Given the description of an element on the screen output the (x, y) to click on. 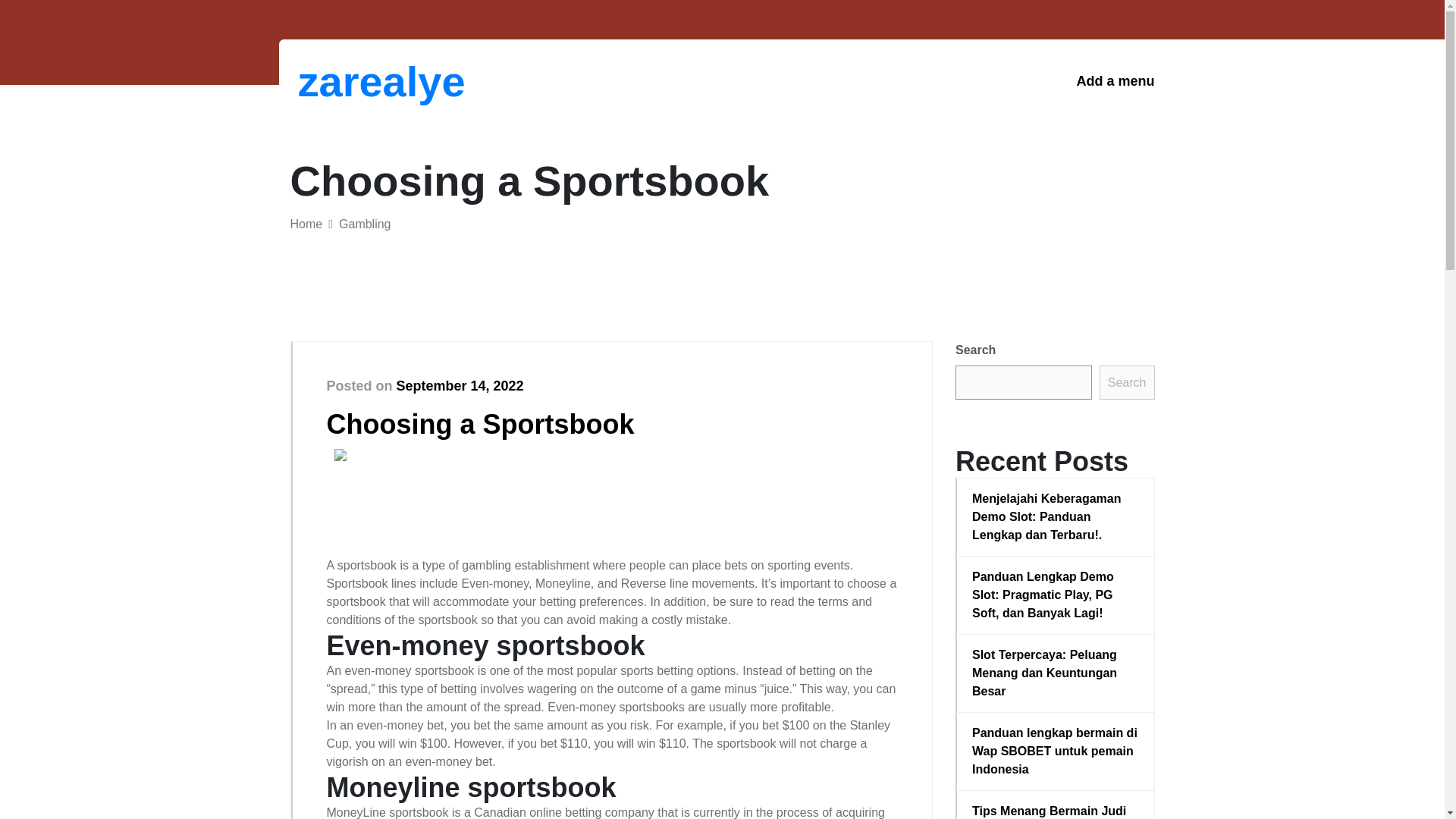
Choosing a Sportsbook (479, 423)
Tips Menang Bermain Judi Casino Online (1055, 810)
Panduan lengkap bermain di Wap SBOBET untuk pemain Indonesia (1055, 750)
Search (1126, 382)
Add a menu (1114, 81)
zarealye (376, 81)
Gambling (364, 223)
Slot Terpercaya: Peluang Menang dan Keuntungan Besar (1055, 673)
September 14, 2022 (460, 385)
Home (305, 223)
